Given the description of an element on the screen output the (x, y) to click on. 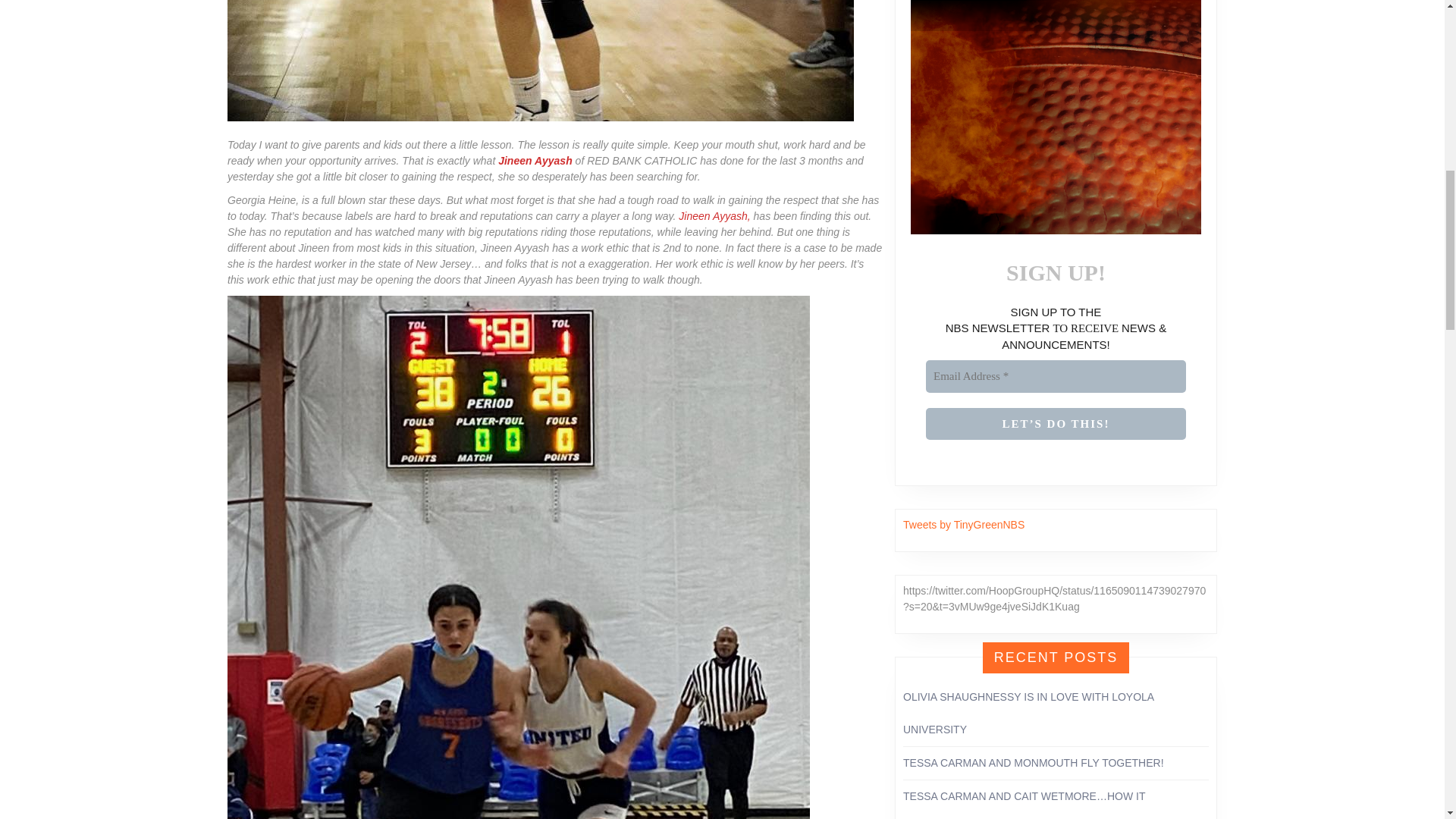
Tweets by TinyGreenNBS (963, 524)
Email Address (1056, 376)
TESSA CARMAN AND MONMOUTH FLY TOGETHER! (1032, 762)
OLIVIA SHAUGHNESSY IS IN LOVE WITH LOYOLA UNIVERSITY (1027, 713)
